Given the description of an element on the screen output the (x, y) to click on. 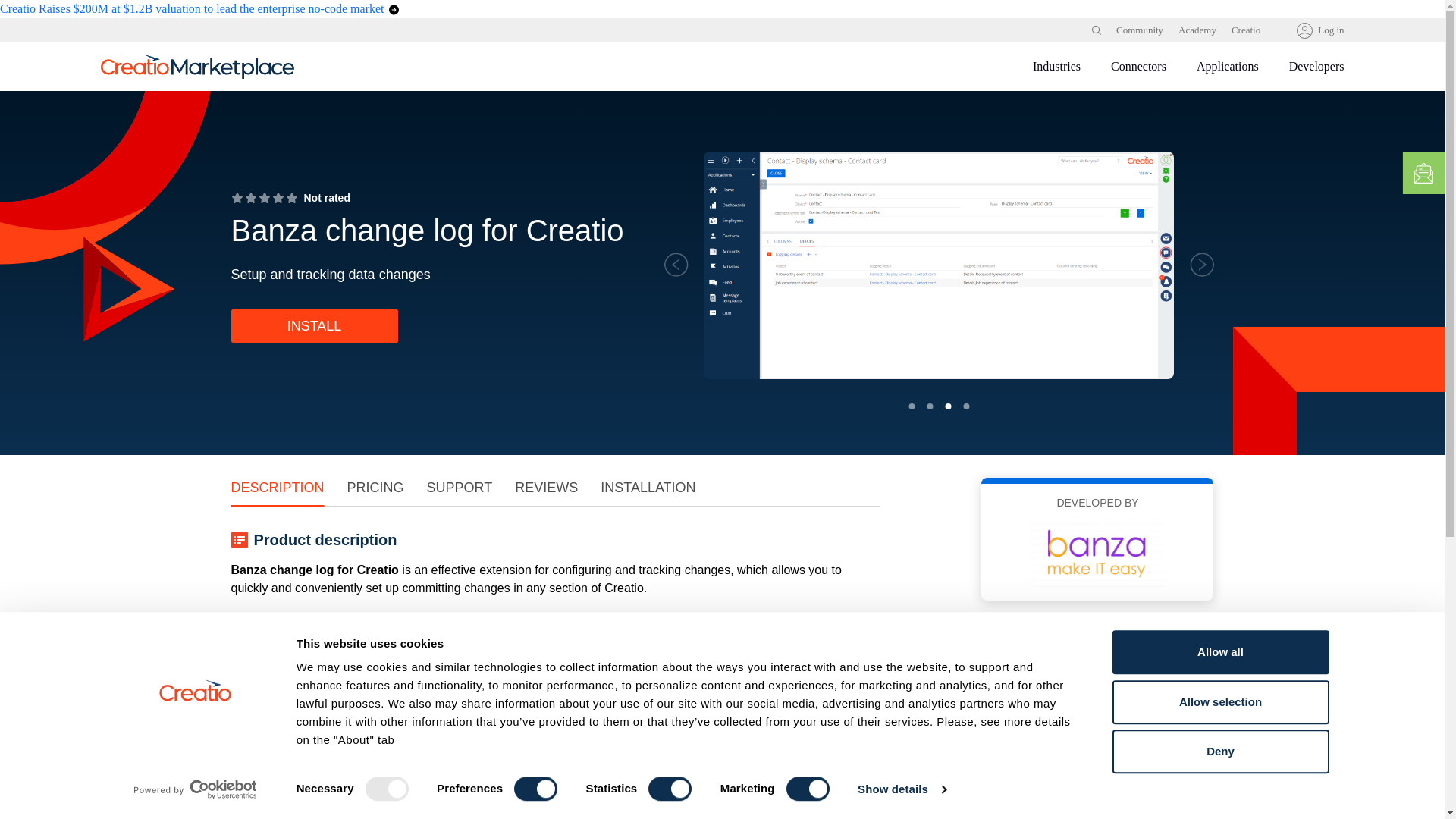
Show details (900, 789)
